Given the description of an element on the screen output the (x, y) to click on. 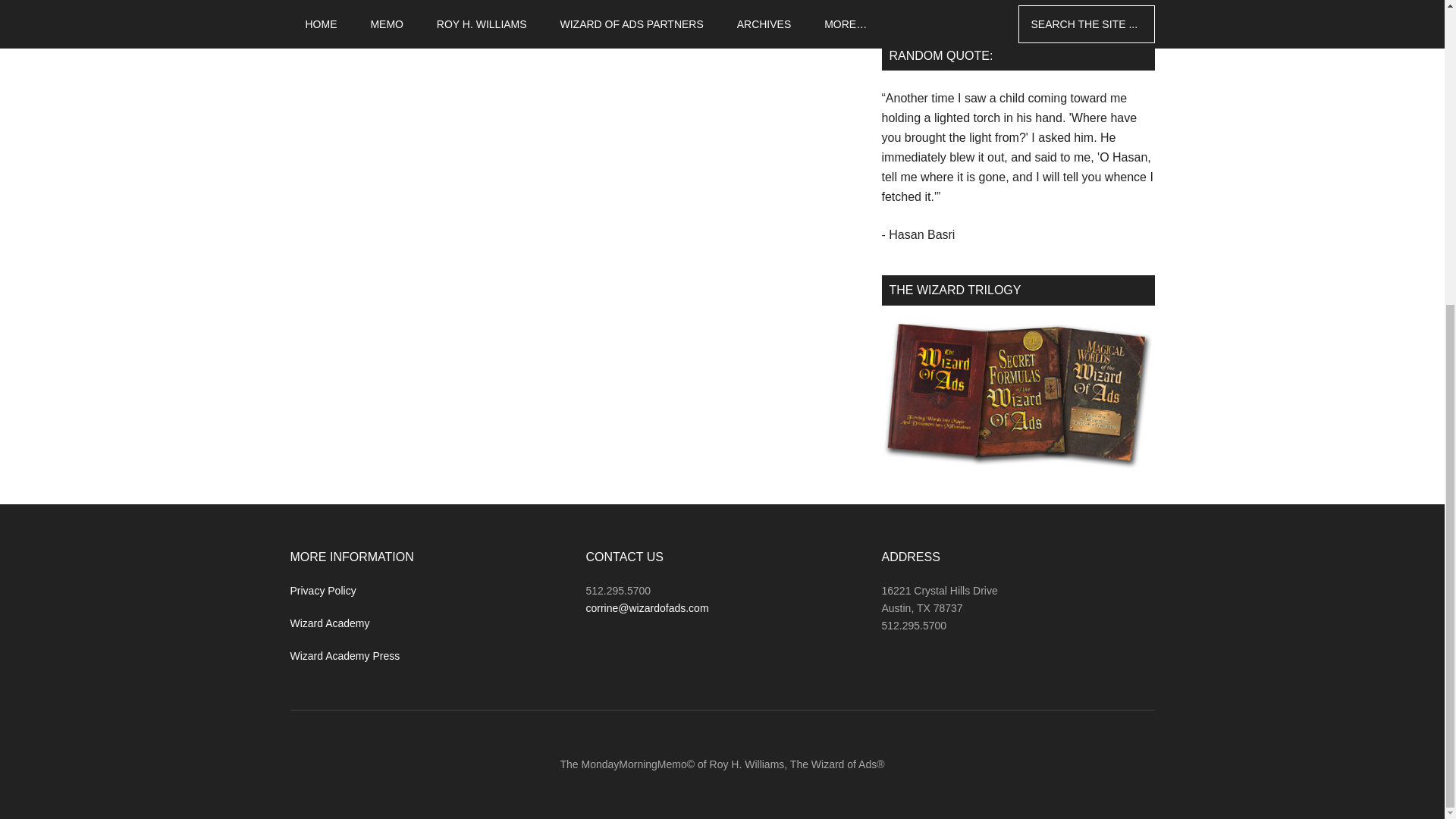
Wizard Academy (329, 623)
Privacy Policy (322, 590)
Wizard Academy Press (343, 655)
